Given the description of an element on the screen output the (x, y) to click on. 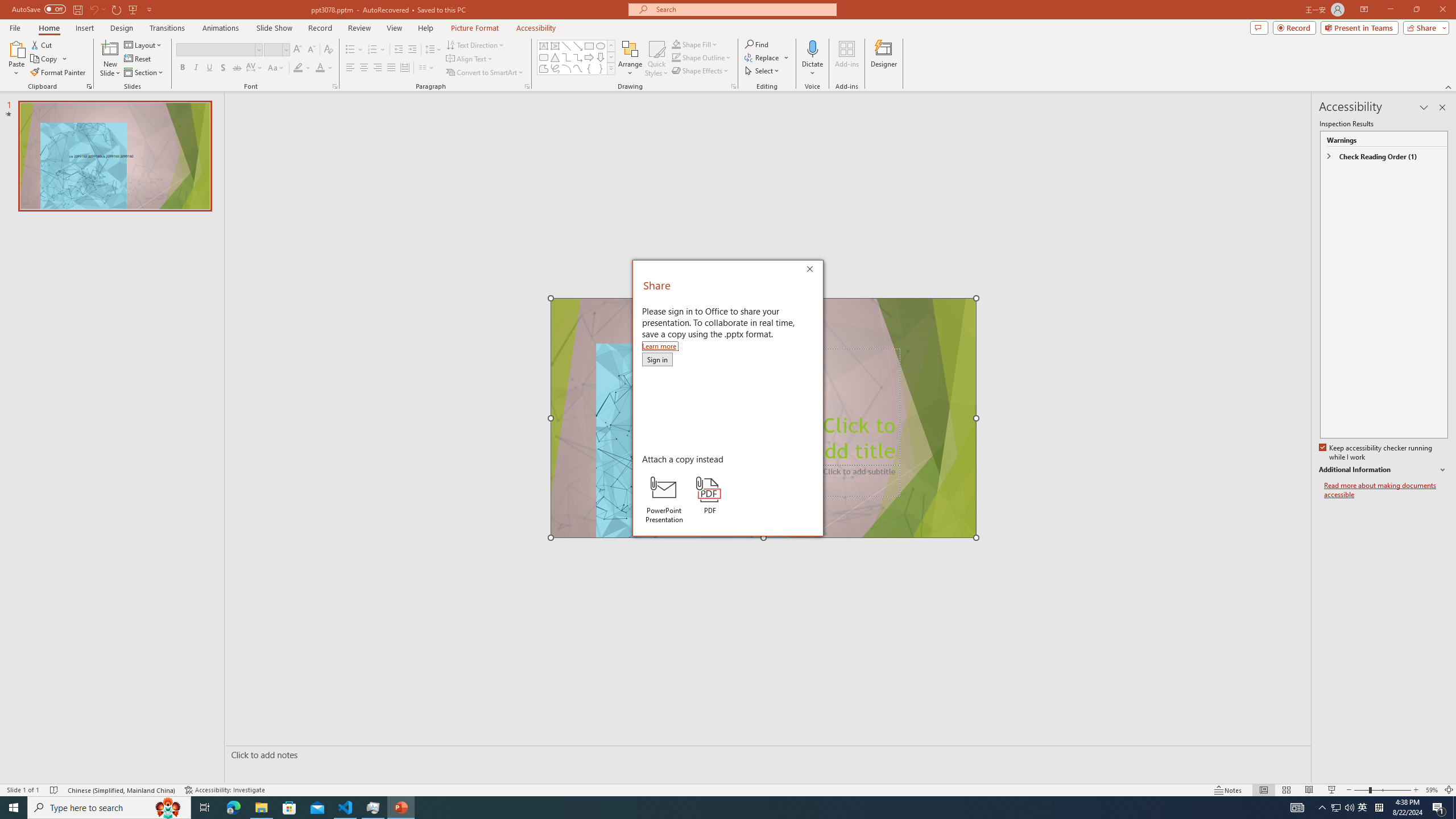
Zoom 59% (1431, 790)
Shape Outline Green, Accent 1 (675, 56)
